Given the description of an element on the screen output the (x, y) to click on. 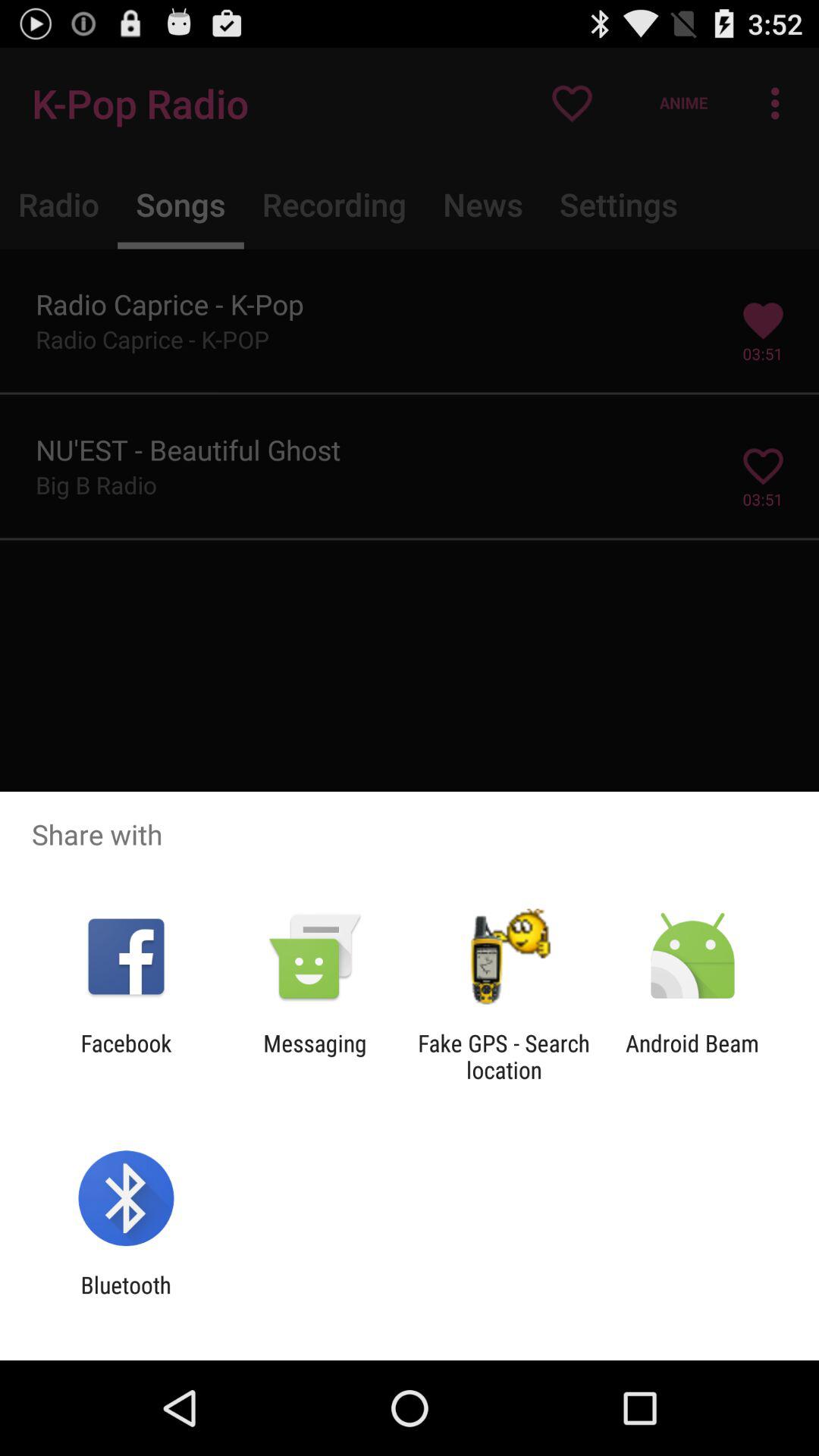
tap the item to the right of facebook icon (314, 1056)
